Given the description of an element on the screen output the (x, y) to click on. 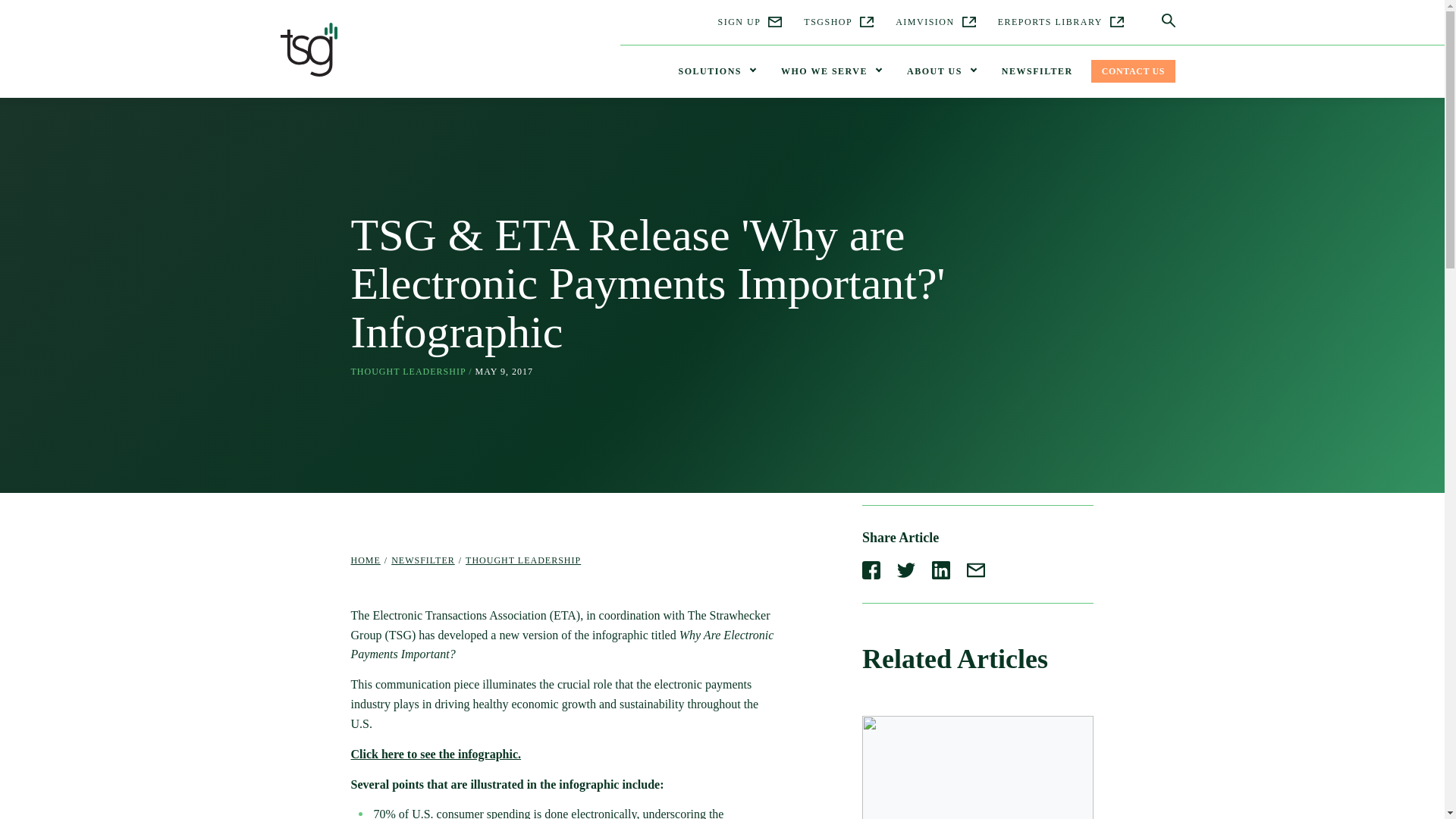
ABOUT US (941, 70)
AIMVISION (935, 22)
SIGN UP (749, 22)
EREPORTS LIBRARY (1060, 22)
CONTACT US (1132, 70)
NEWSFILTER (1037, 70)
WHO WE SERVE (830, 70)
TSG home (309, 52)
TSGSHOP (838, 22)
SOLUTIONS (715, 70)
